Given the description of an element on the screen output the (x, y) to click on. 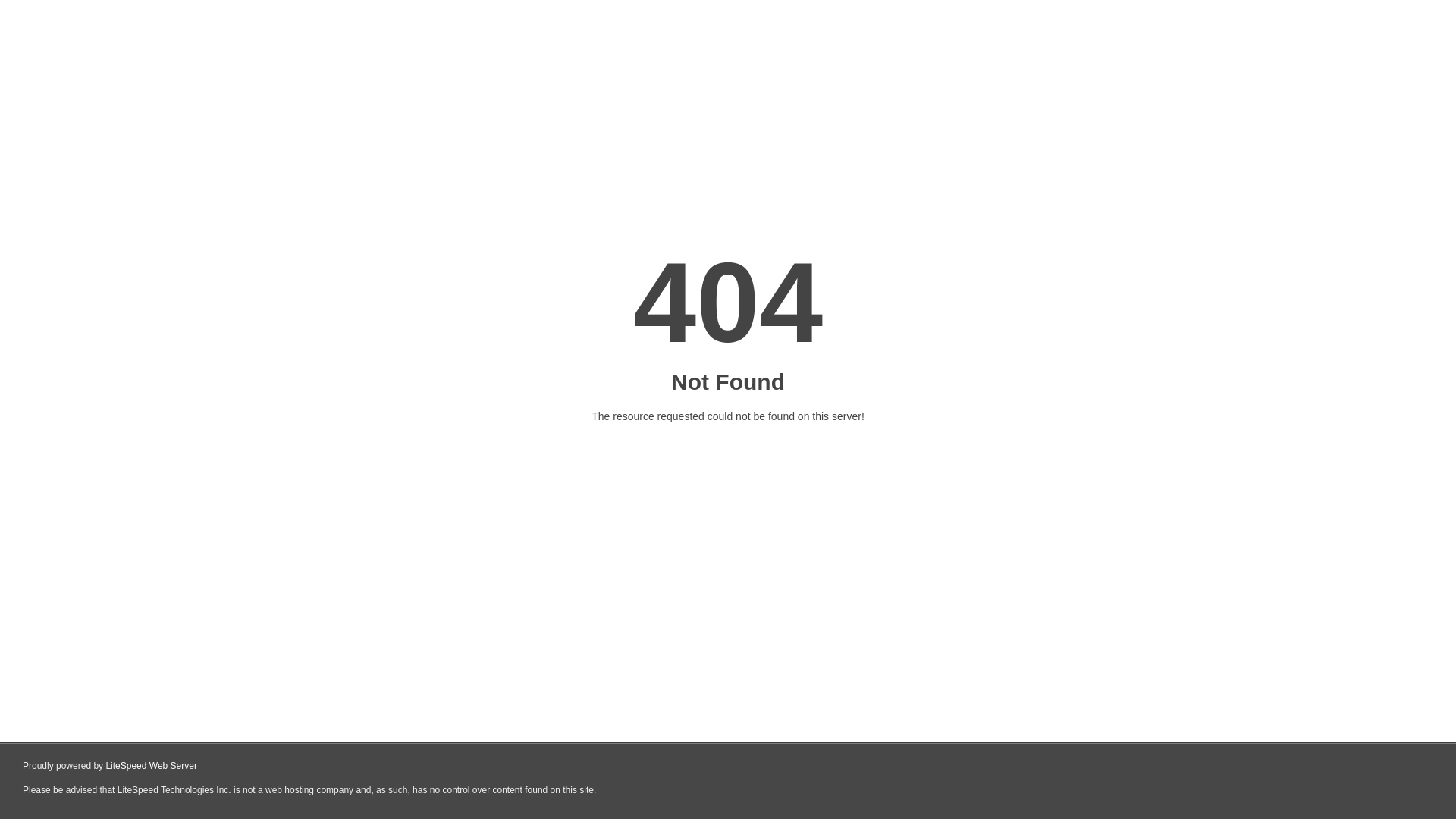
LiteSpeed Web Server Element type: text (151, 765)
